Given the description of an element on the screen output the (x, y) to click on. 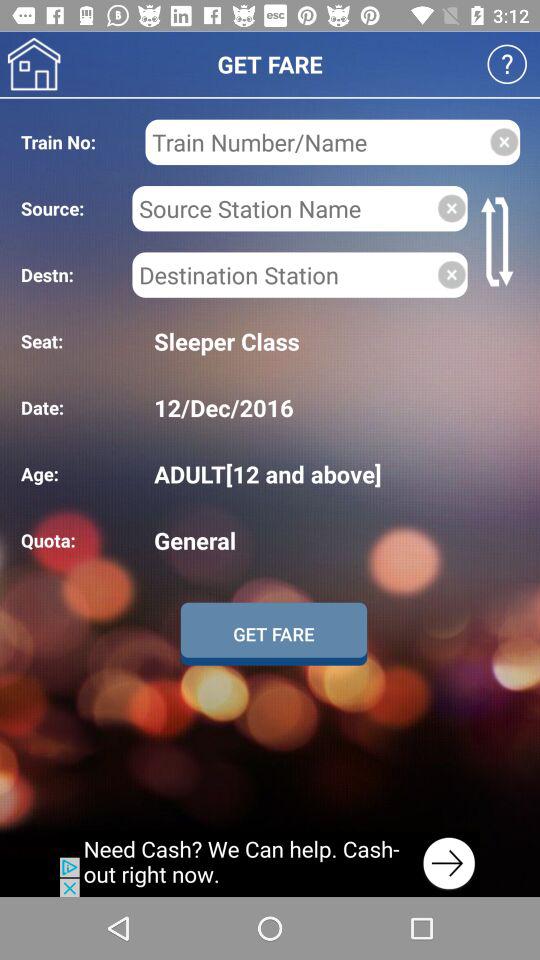
enter information (284, 274)
